Given the description of an element on the screen output the (x, y) to click on. 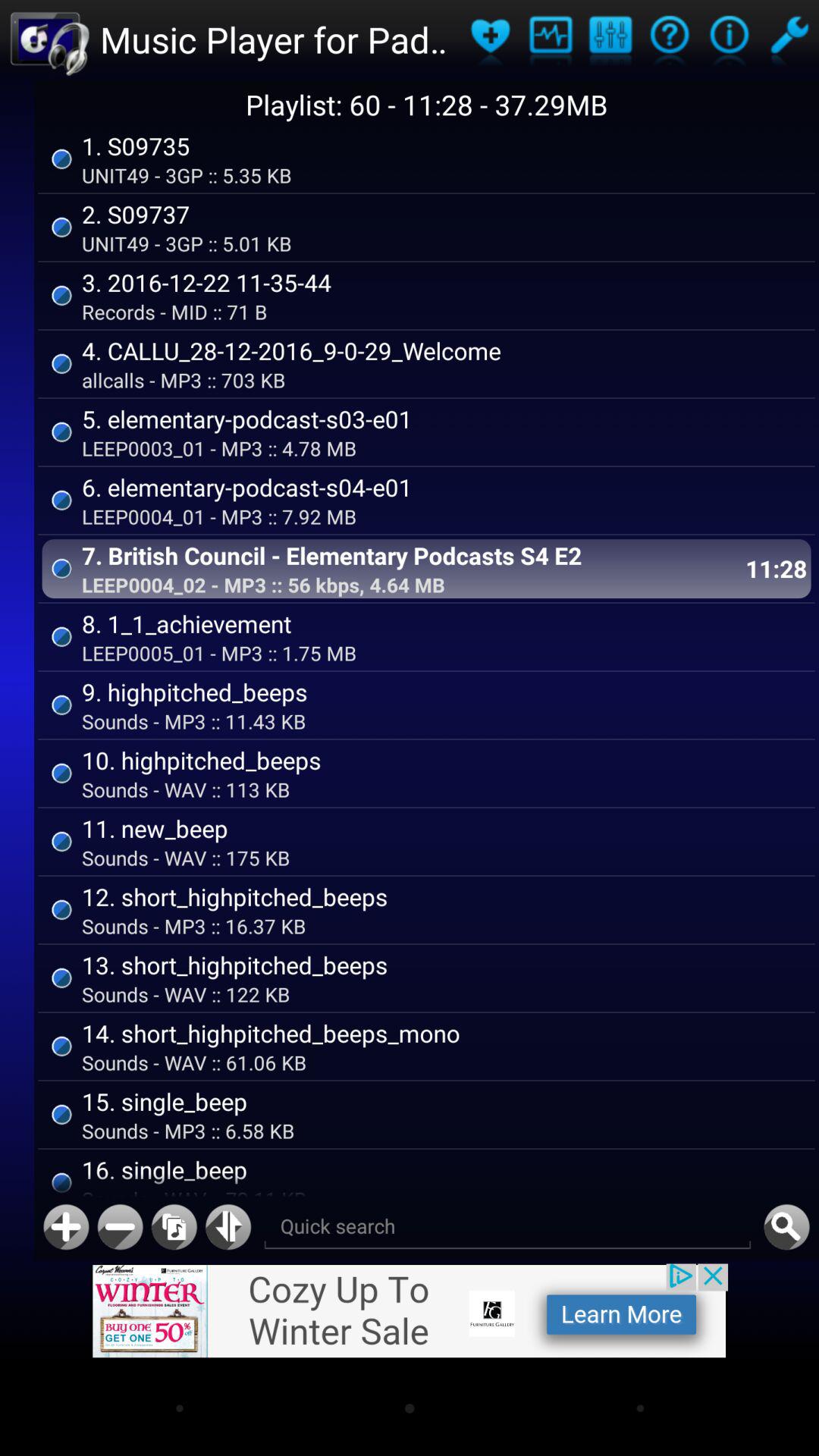
setting switch (789, 39)
